Given the description of an element on the screen output the (x, y) to click on. 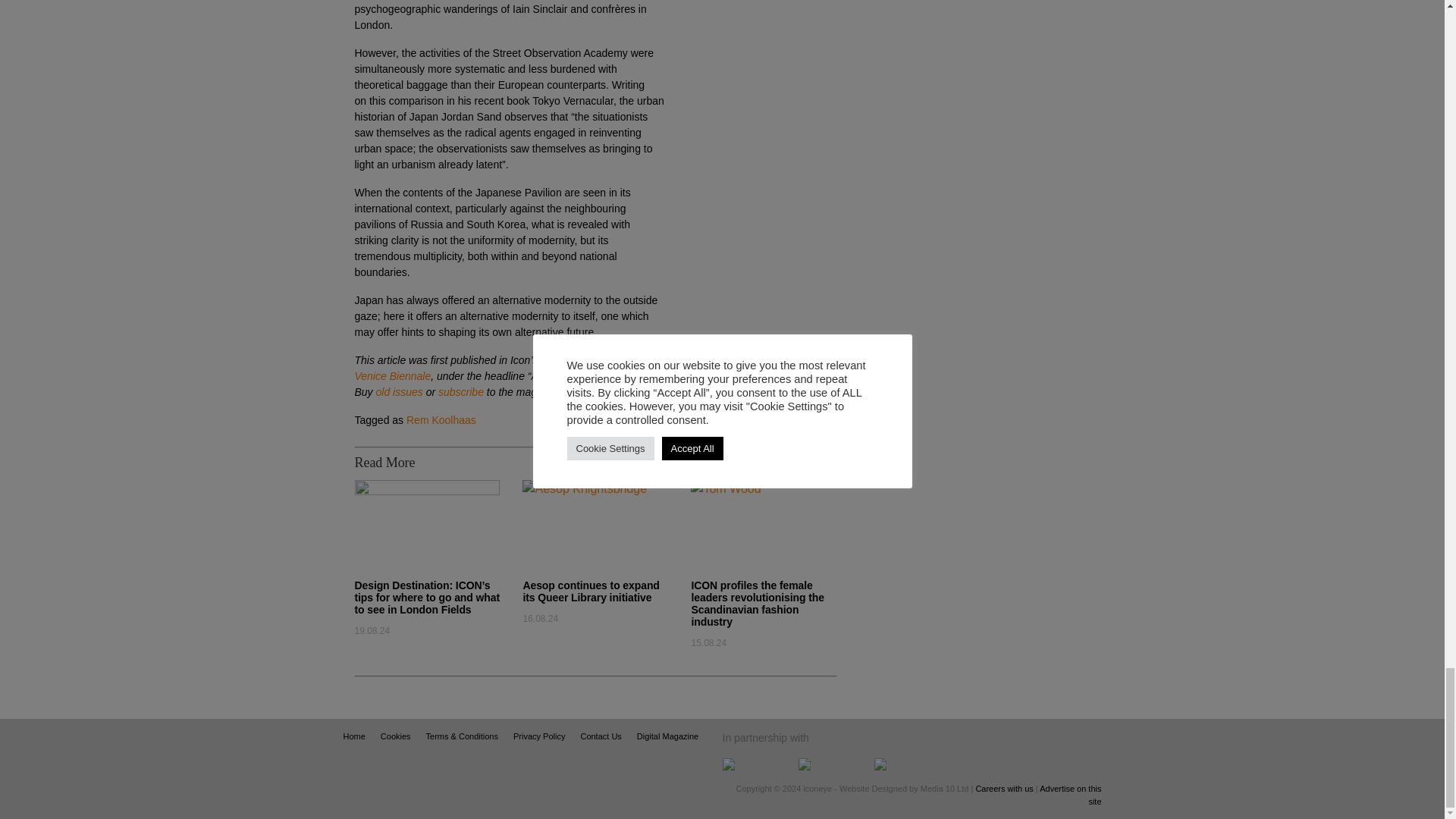
August 2014 issue: Venice Biennale (492, 367)
subscribe (460, 391)
old issues (399, 391)
Aesop continues to expand its Queer Library initiative (590, 591)
Rem Koolhaas (441, 419)
